Given the description of an element on the screen output the (x, y) to click on. 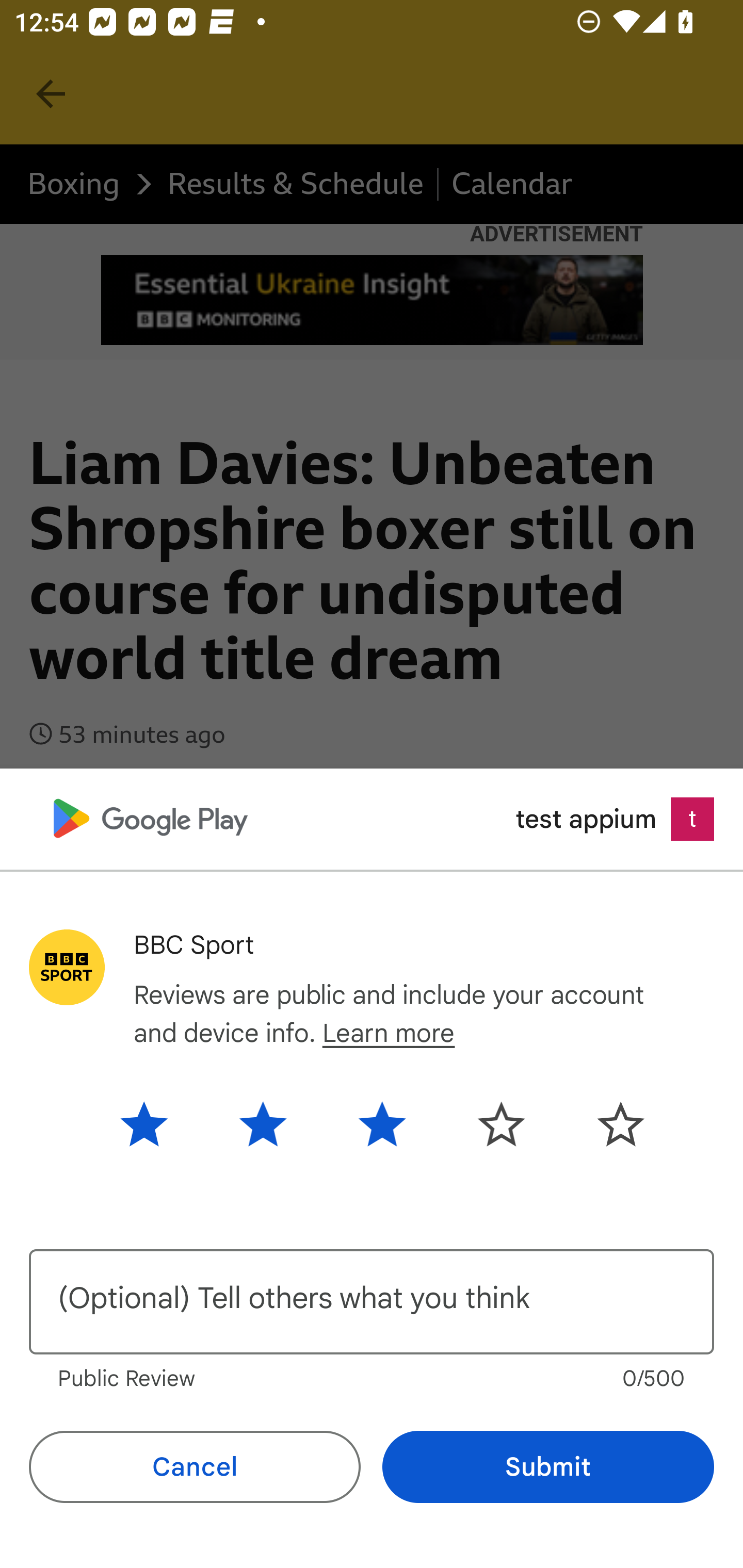
First star selected (159, 1123)
Second star selected (262, 1123)
Third star selected (381, 1123)
Fourth star unselected (500, 1123)
Fifth star unselected (604, 1123)
(Optional) Tell others what you think (371, 1301)
Cancel (194, 1466)
Submit (548, 1466)
